Given the description of an element on the screen output the (x, y) to click on. 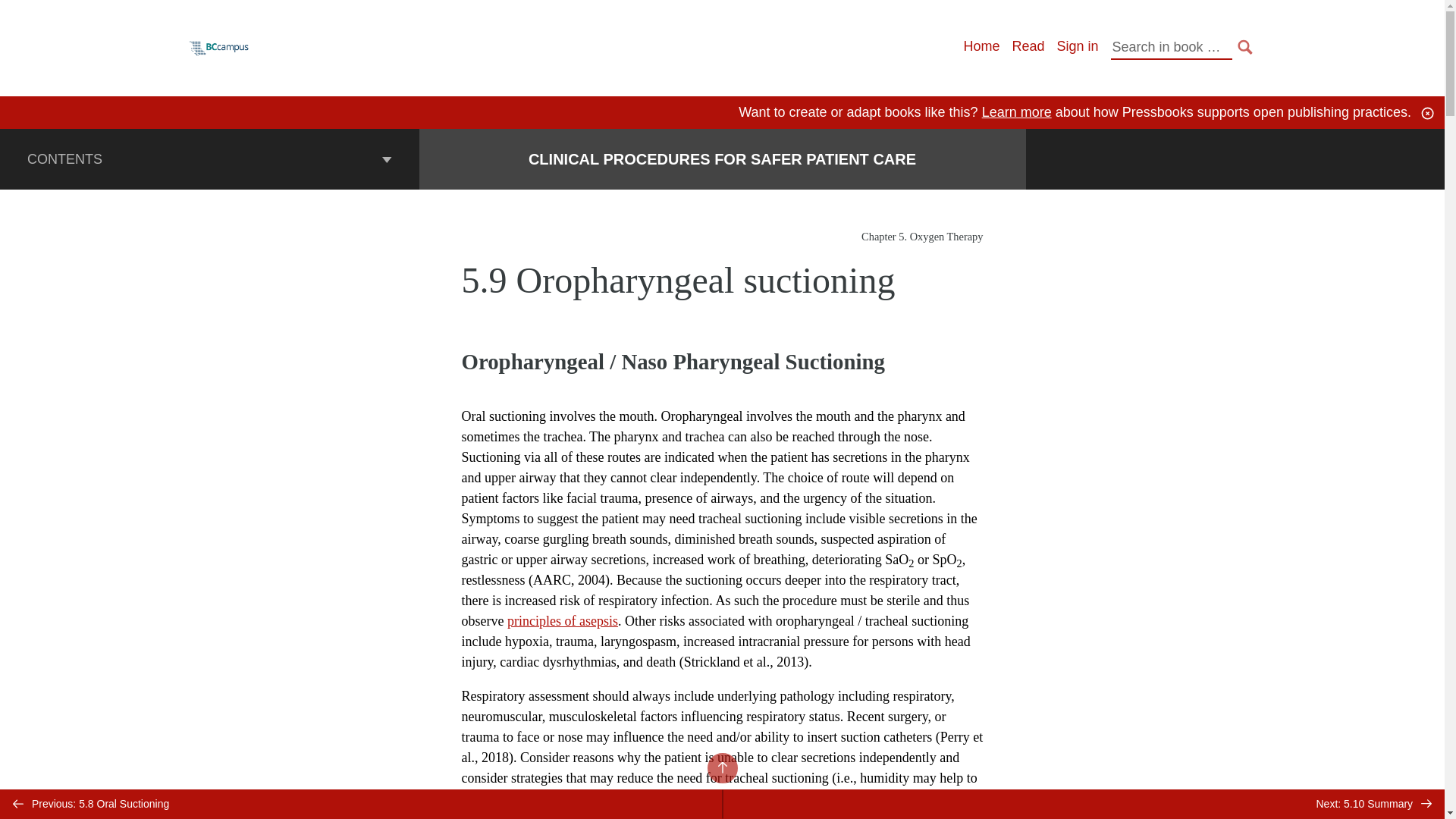
CONTENTS (209, 158)
Sign in (1077, 46)
principles of asepsis (561, 620)
Home (980, 46)
BACK TO TOP (721, 767)
Learn more (1016, 111)
Read (1027, 46)
CLINICAL PROCEDURES FOR SAFER PATIENT CARE (721, 159)
Previous: 5.8 Oral Suctioning (361, 804)
Previous: 5.8 Oral Suctioning (361, 804)
